Given the description of an element on the screen output the (x, y) to click on. 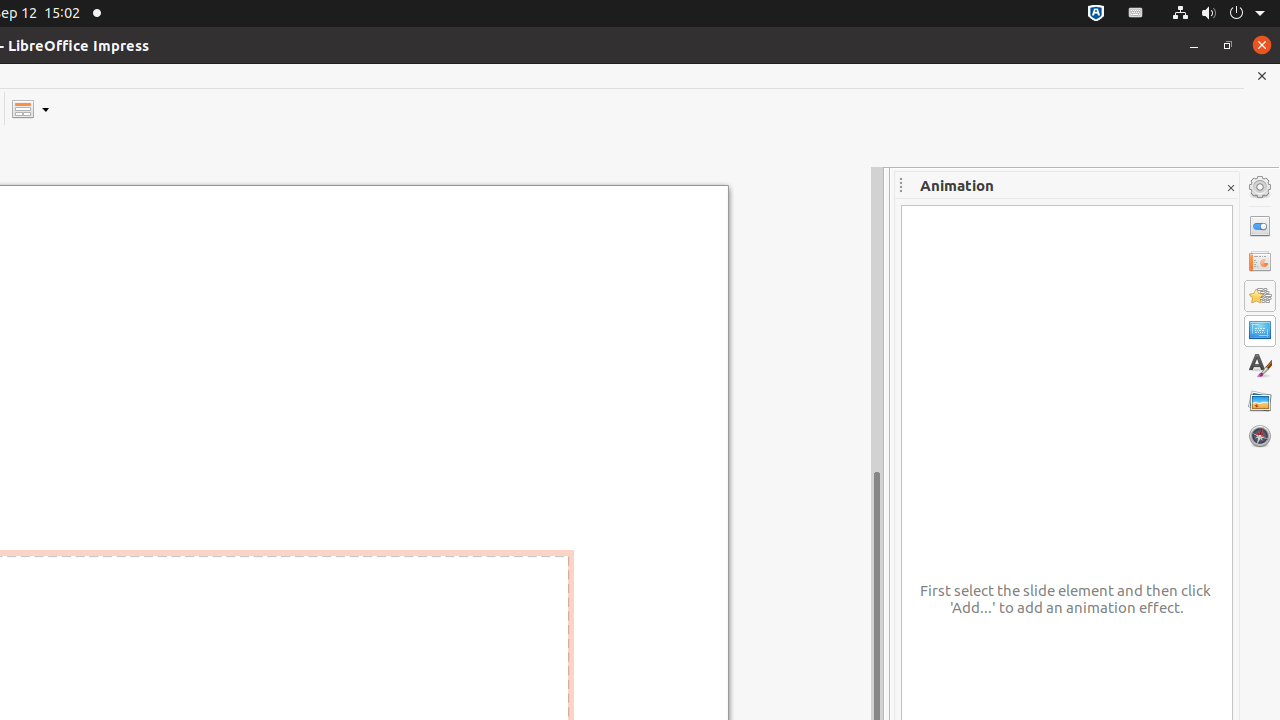
Close Sidebar Deck Element type: push-button (1230, 188)
Slide Layout Element type: push-button (30, 108)
:1.21/StatusNotifierItem Element type: menu (1136, 13)
:1.72/StatusNotifierItem Element type: menu (1096, 13)
Master Slides Element type: radio-button (1260, 331)
